Given the description of an element on the screen output the (x, y) to click on. 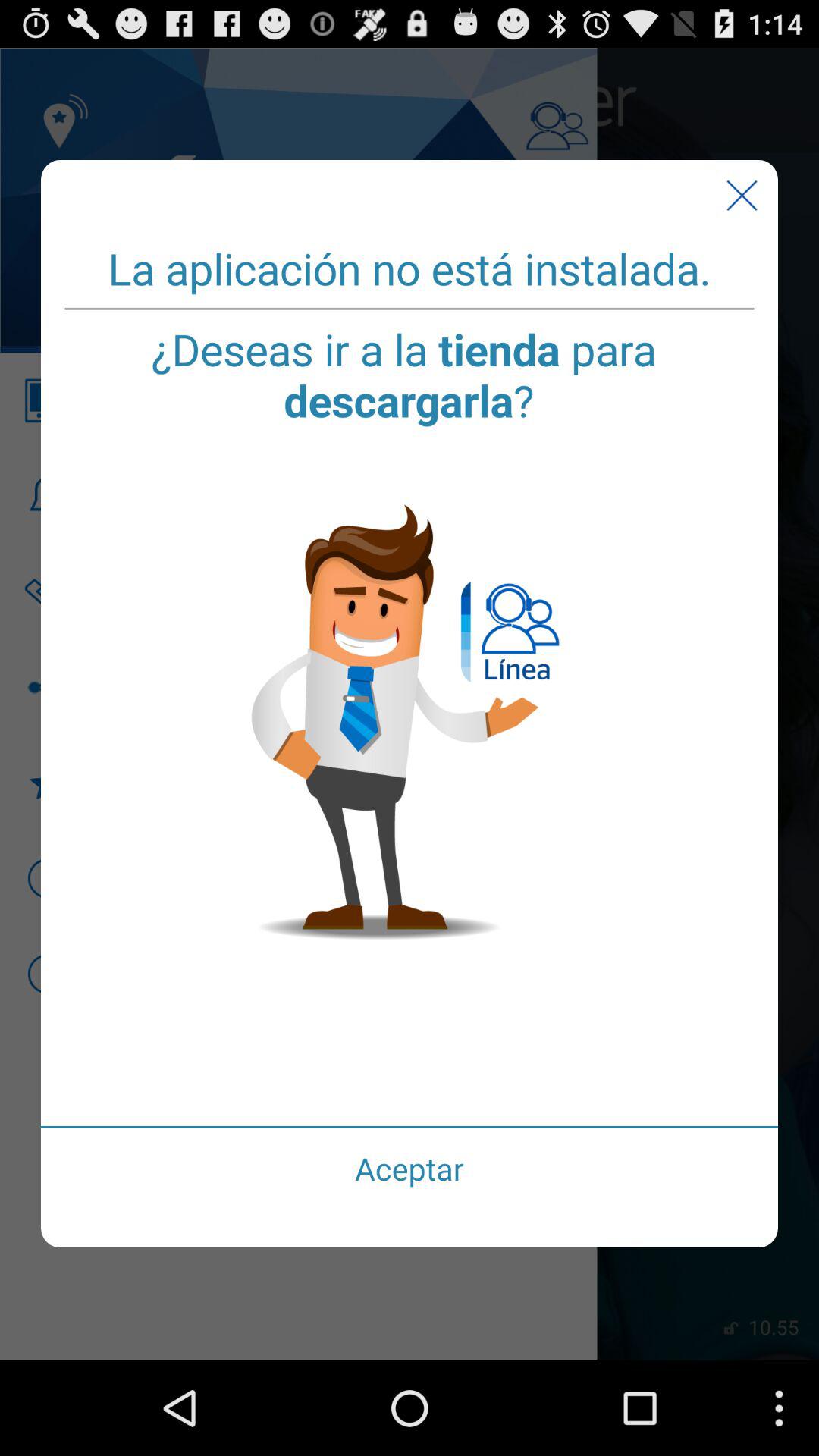
flip until the aceptar item (409, 1168)
